Given the description of an element on the screen output the (x, y) to click on. 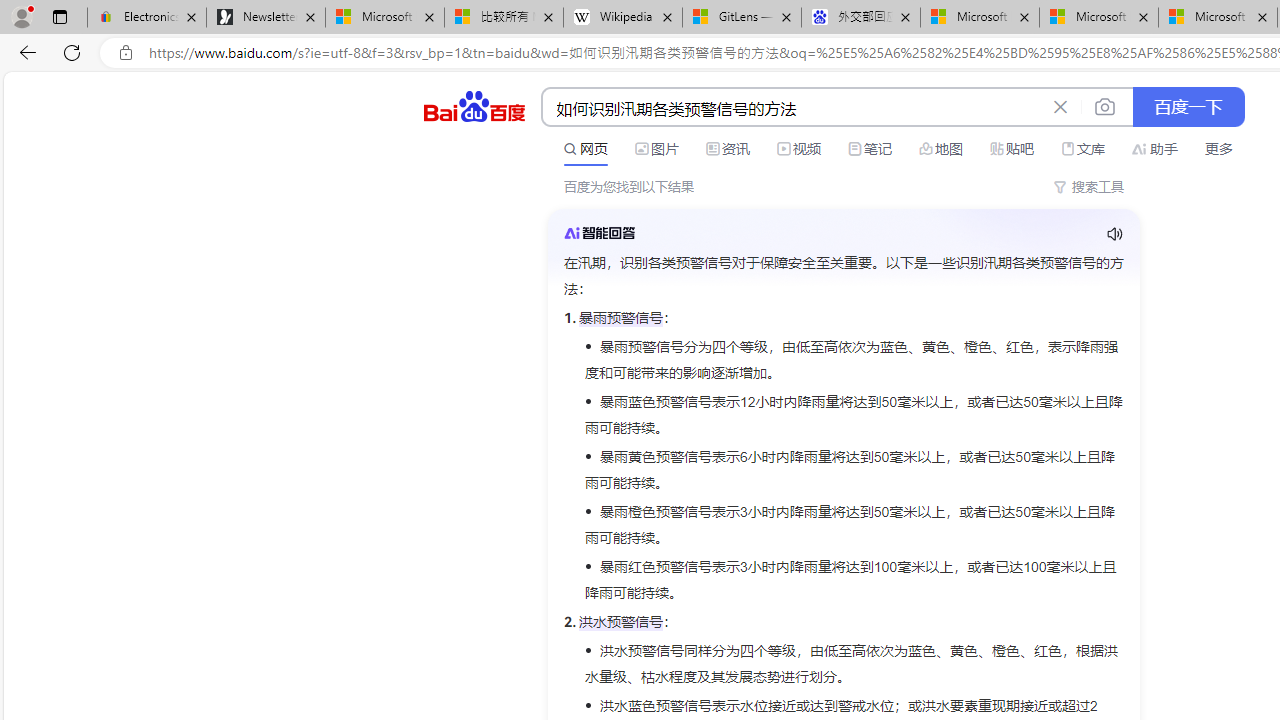
Electronics, Cars, Fashion, Collectibles & More | eBay (147, 17)
